Given the description of an element on the screen output the (x, y) to click on. 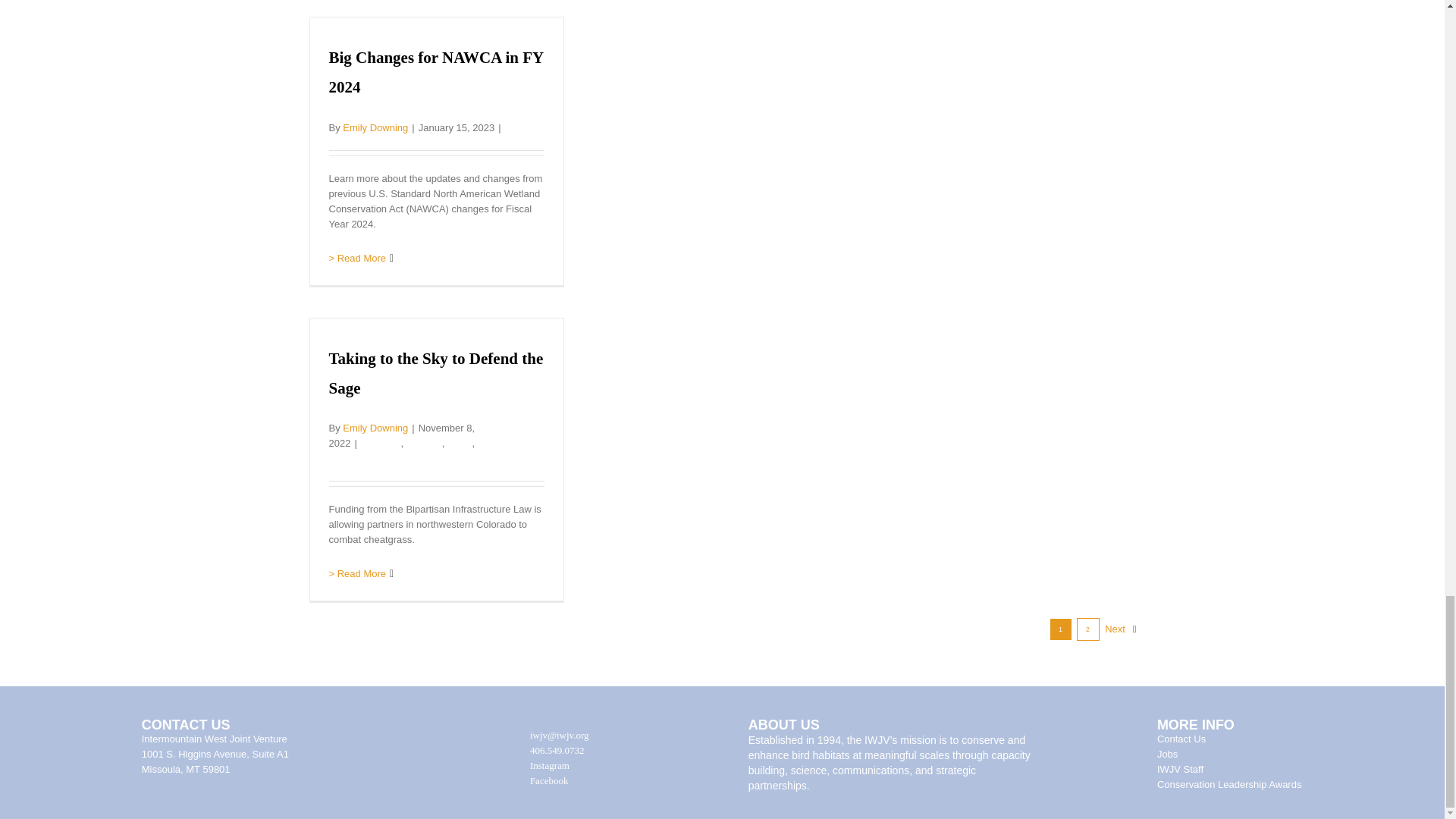
Posts by Emily Downing (374, 428)
Posts by Emily Downing (374, 127)
